Given the description of an element on the screen output the (x, y) to click on. 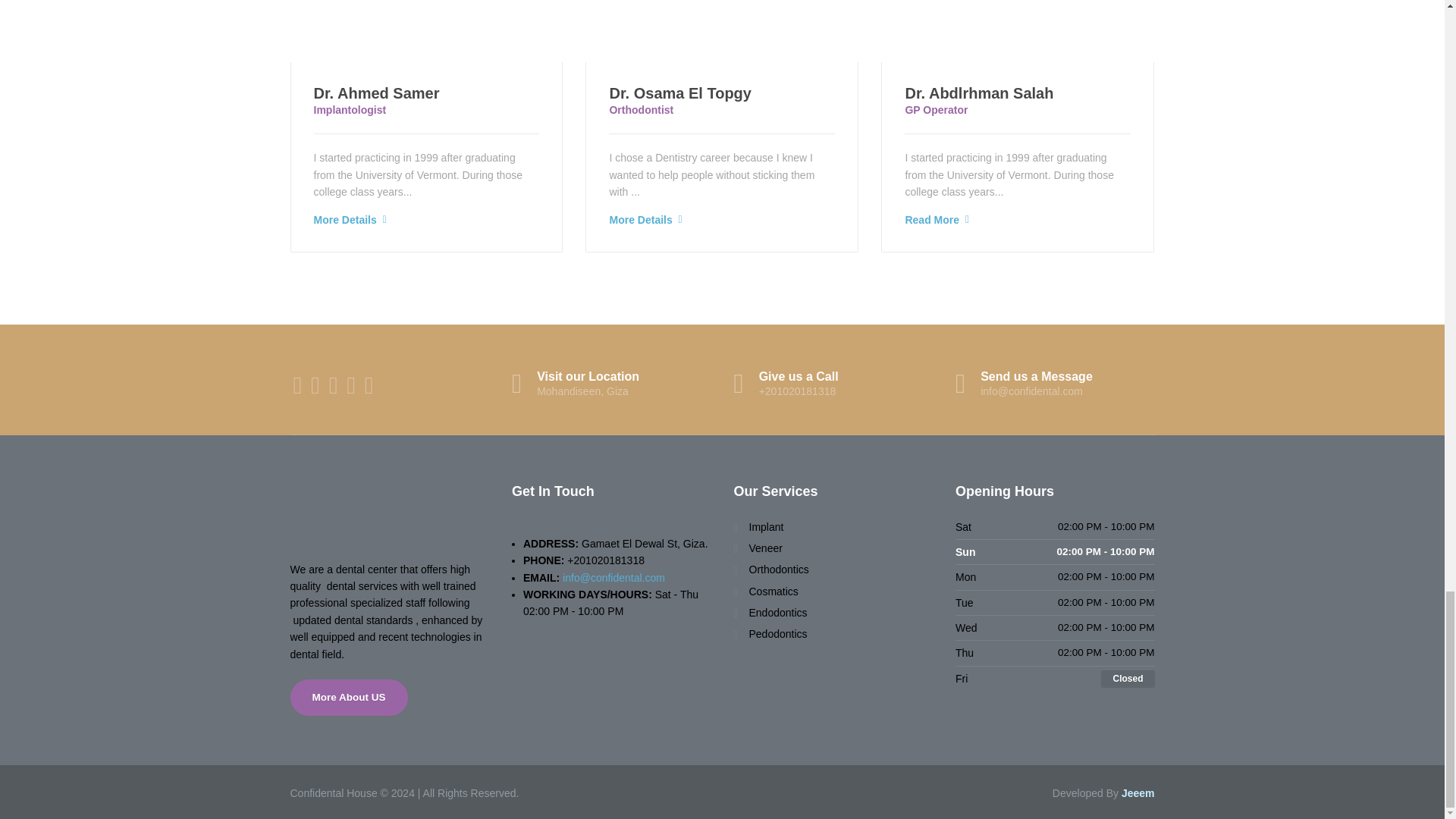
More Details (345, 219)
Dr. Osama El Topgy (679, 93)
Dr. Ahmed Samer (376, 93)
More Details (639, 219)
